Given the description of an element on the screen output the (x, y) to click on. 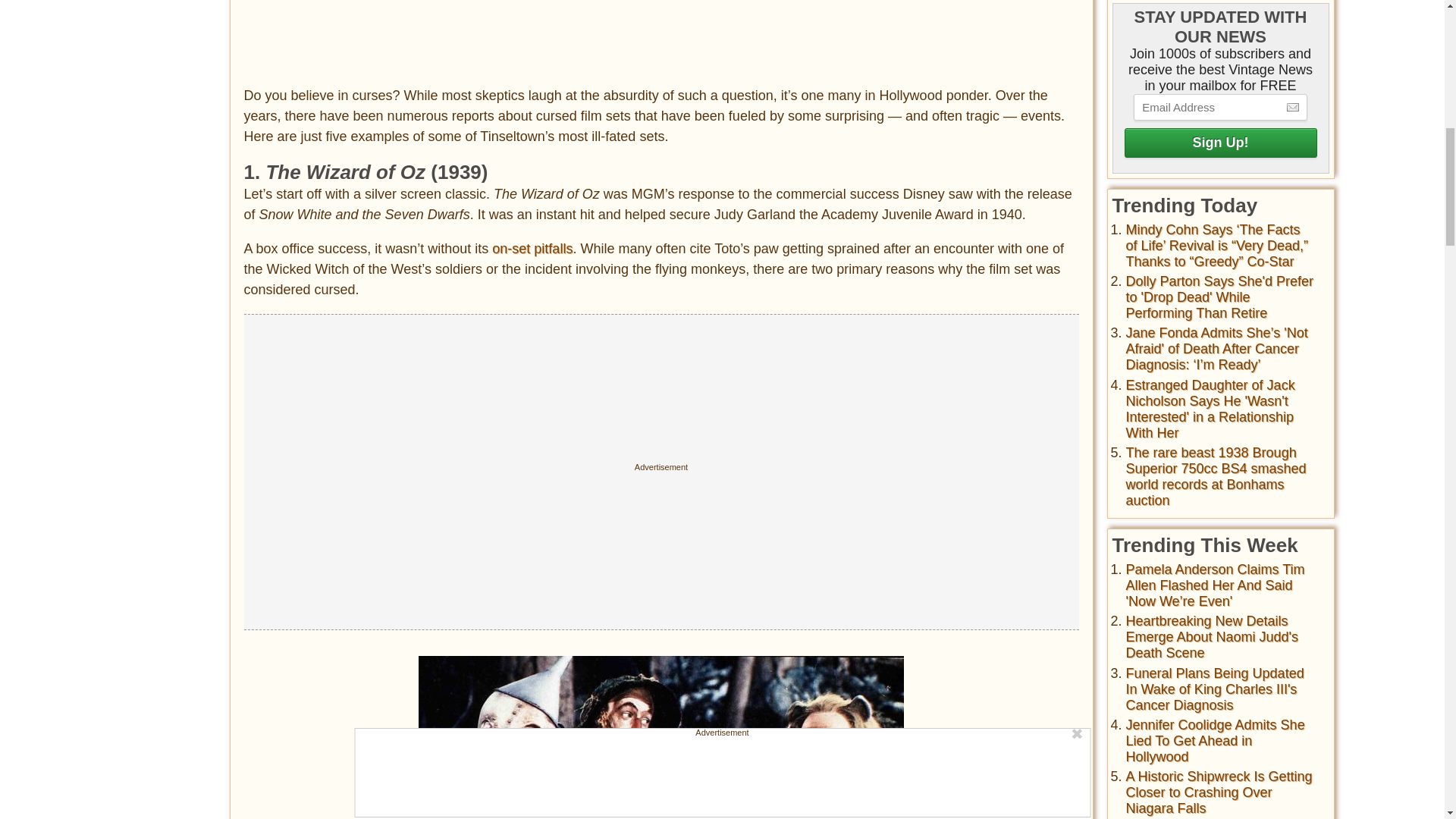
Sign Up! (1220, 142)
